Given the description of an element on the screen output the (x, y) to click on. 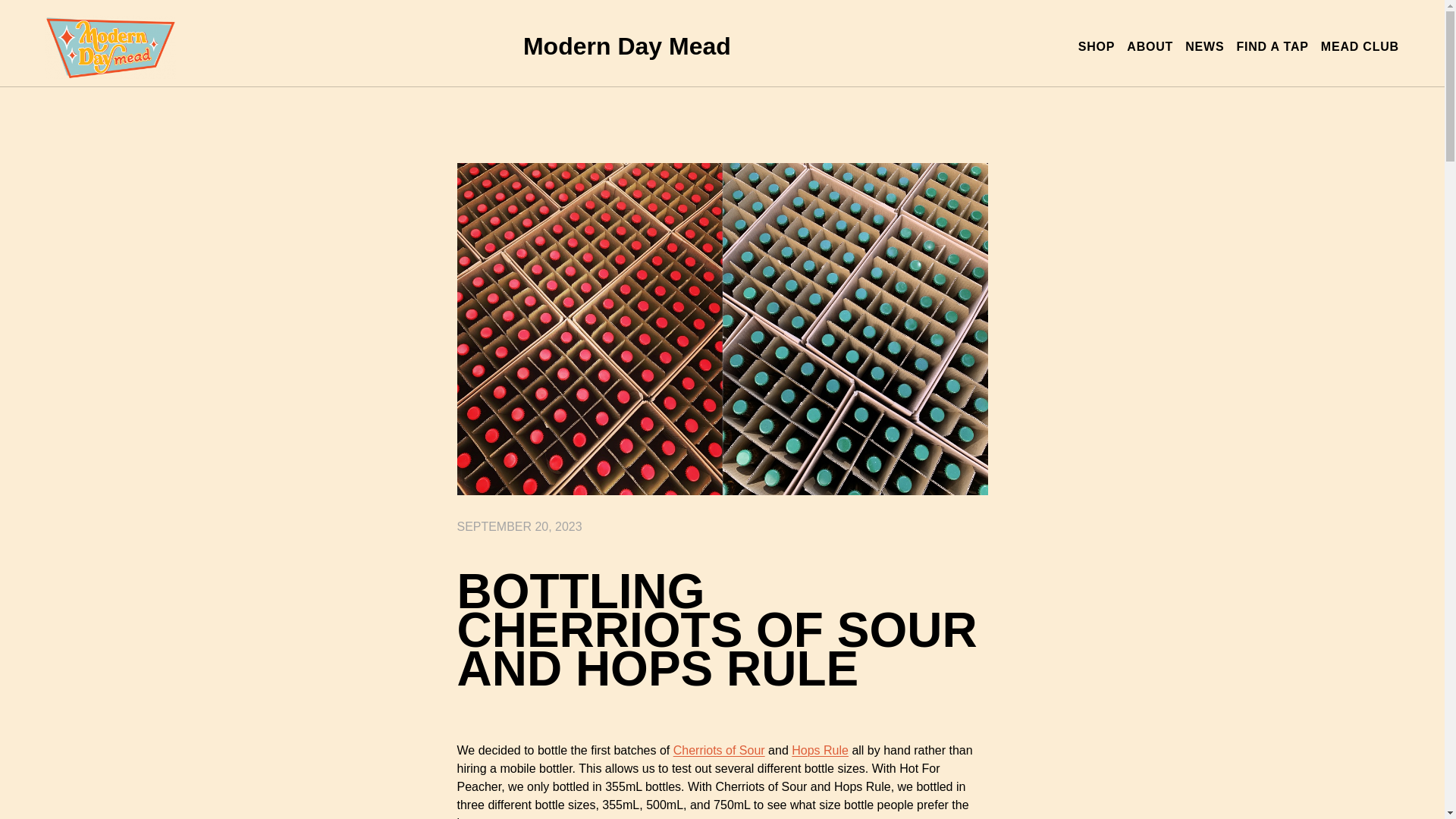
MEAD CLUB (1359, 46)
ABOUT (1149, 46)
SHOP (1096, 46)
NEWS (1204, 46)
Hops Rule (820, 749)
Cherriots of Sour (718, 749)
FIND A TAP (1271, 46)
